Given the description of an element on the screen output the (x, y) to click on. 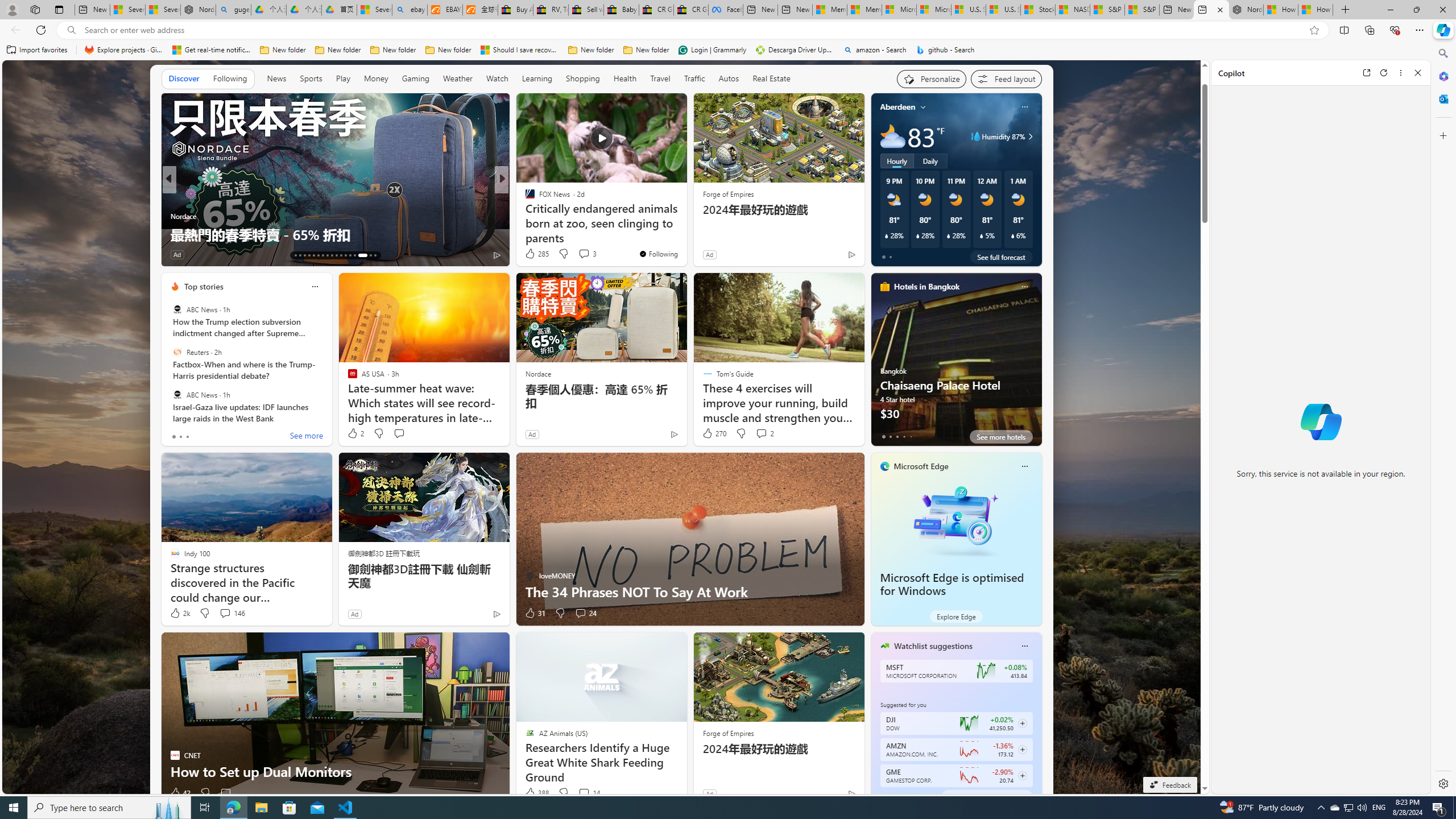
Collections (1369, 29)
Split screen (1344, 29)
Workspaces (34, 9)
Customize (1442, 135)
Discover (183, 79)
